Given the description of an element on the screen output the (x, y) to click on. 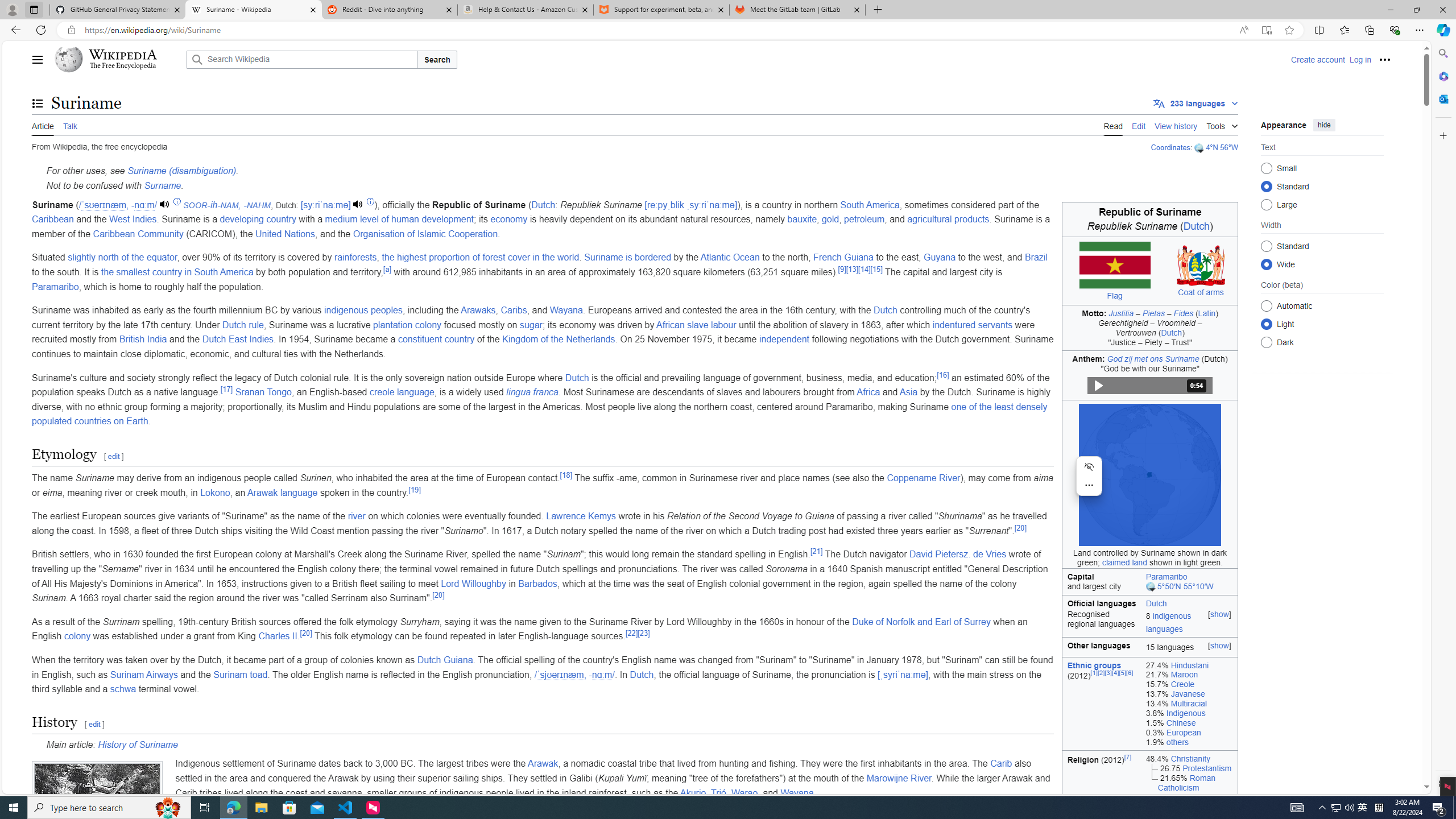
Flag of Suriname Flag Coat of arms of Suriname Coat of arms (1149, 270)
Christianity (1190, 758)
Carib (1000, 763)
Wide (1266, 263)
European (1183, 732)
Indigenous (1185, 713)
[13] (852, 268)
river (356, 516)
gold (830, 219)
Lokono (215, 492)
United Nations (284, 233)
Capital and largest city (1101, 581)
